Given the description of an element on the screen output the (x, y) to click on. 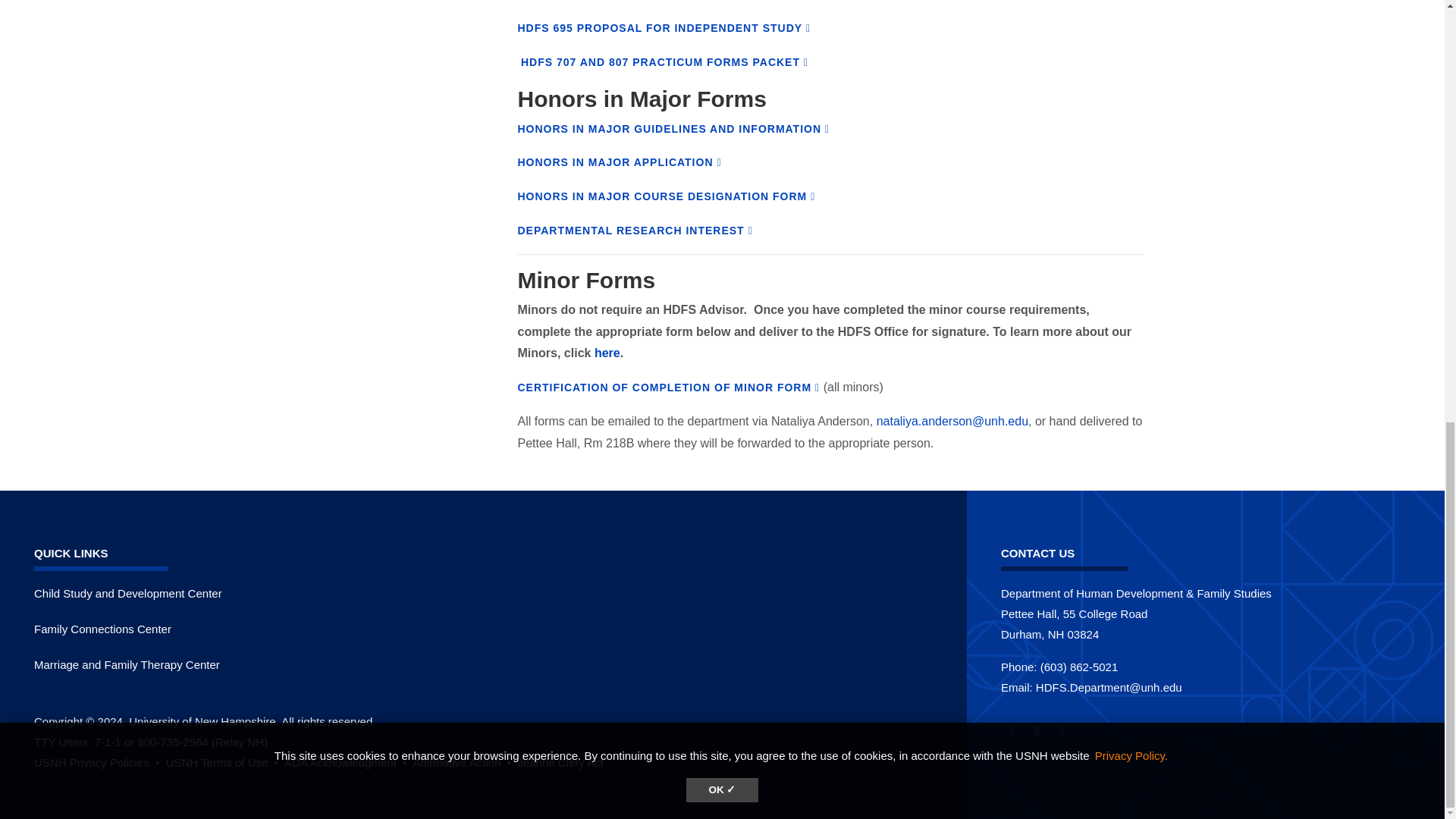
independent-study-proposal-form-2019.pdf (663, 28)
Learn (97, 762)
minorform.pdf (667, 387)
Family Connections Center (102, 628)
Research (634, 230)
Child Study and Development Center (127, 593)
Marriage and Family Therapy Center (126, 664)
